Given the description of an element on the screen output the (x, y) to click on. 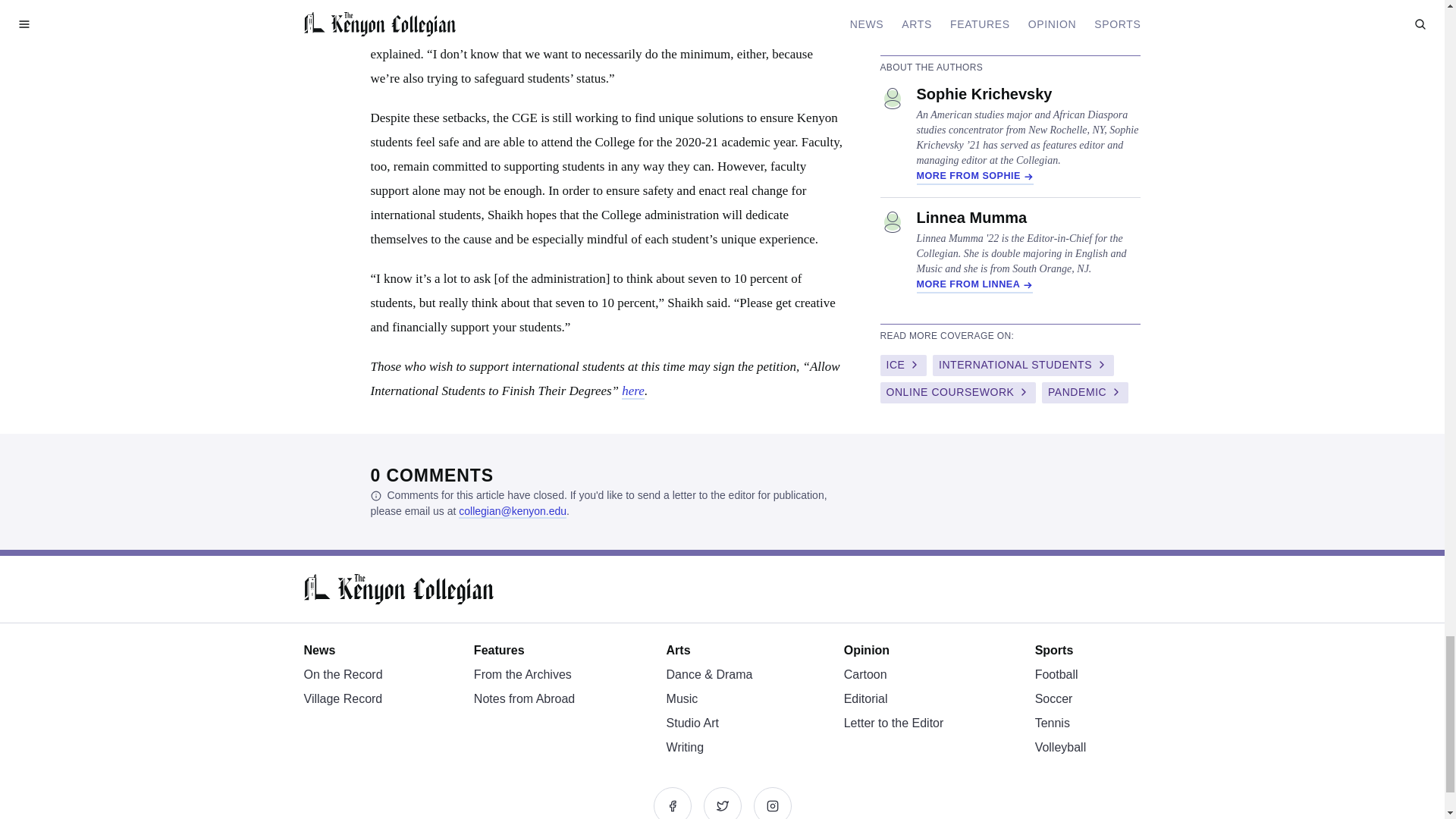
ICE (902, 364)
ONLINE COURSEWORK (957, 392)
INTERNATIONAL STUDENTS (1023, 364)
MORE FROM SOPHIE (973, 177)
PANDEMIC (1085, 392)
MORE FROM LINNEA (973, 285)
here (633, 391)
